Given the description of an element on the screen output the (x, y) to click on. 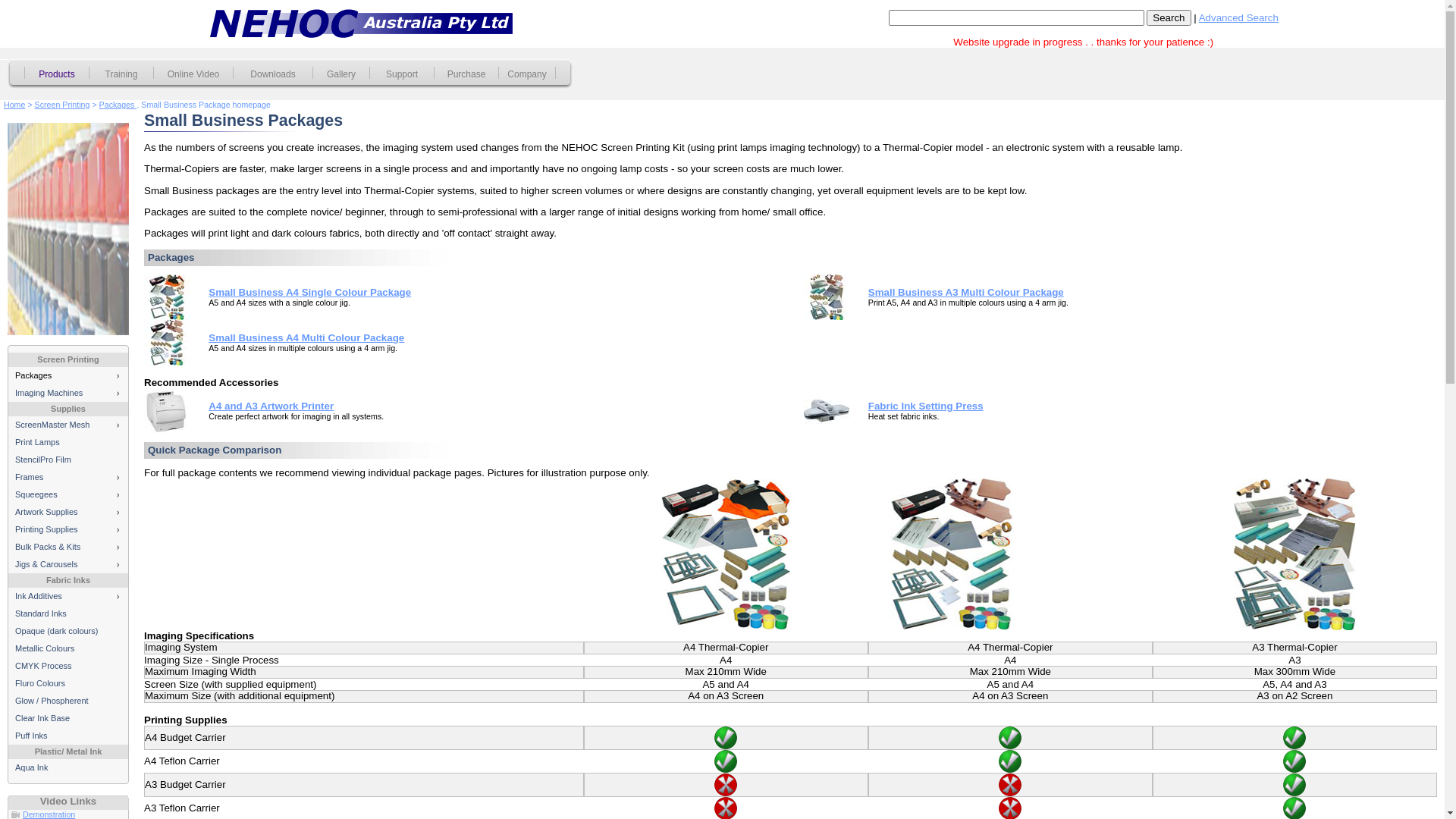
Small Business A4 Single Colour Package Element type: text (309, 292)
Products Element type: text (56, 73)
Fabric Ink Setting Press Element type: text (925, 405)
Frames Element type: text (67, 477)
Aqua Ink Element type: text (67, 767)
Packages Element type: text (118, 104)
Opaque (dark colours) Element type: text (67, 631)
Squeegees Element type: text (67, 494)
Fluro Colours Element type: text (67, 683)
Small Business A3 Multi Colour Package Element type: text (965, 292)
Packages Element type: text (67, 375)
Glow / Phospherent Element type: text (67, 700)
ScreenMaster Mesh Element type: text (67, 424)
Downloads Element type: text (272, 73)
Support Element type: text (401, 73)
Purchase Element type: text (466, 73)
Imaging Machines Element type: text (67, 392)
Company Element type: text (526, 73)
StencilPro Film Element type: text (67, 459)
Online Video Element type: text (193, 73)
Artwork Supplies Element type: text (67, 511)
Advanced Search Element type: text (1238, 17)
Print Lamps Element type: text (67, 442)
CMYK Process Element type: text (67, 665)
Search Element type: text (1168, 17)
Bulk Packs & Kits Element type: text (67, 546)
Printing Supplies Element type: text (67, 529)
Home Element type: text (14, 104)
Training Element type: text (121, 73)
Screen Printing Element type: text (62, 104)
Gallery Element type: text (340, 73)
Standard Inks Element type: text (67, 613)
Clear Ink Base Element type: text (67, 718)
Small Business A4 Multi Colour Package Element type: text (306, 337)
Ink Additives Element type: text (67, 596)
Puff Inks Element type: text (67, 735)
Metallic Colours Element type: text (67, 648)
A4 and A3 Artwork Printer Element type: text (270, 405)
Jigs & Carousels Element type: text (67, 564)
